Given the description of an element on the screen output the (x, y) to click on. 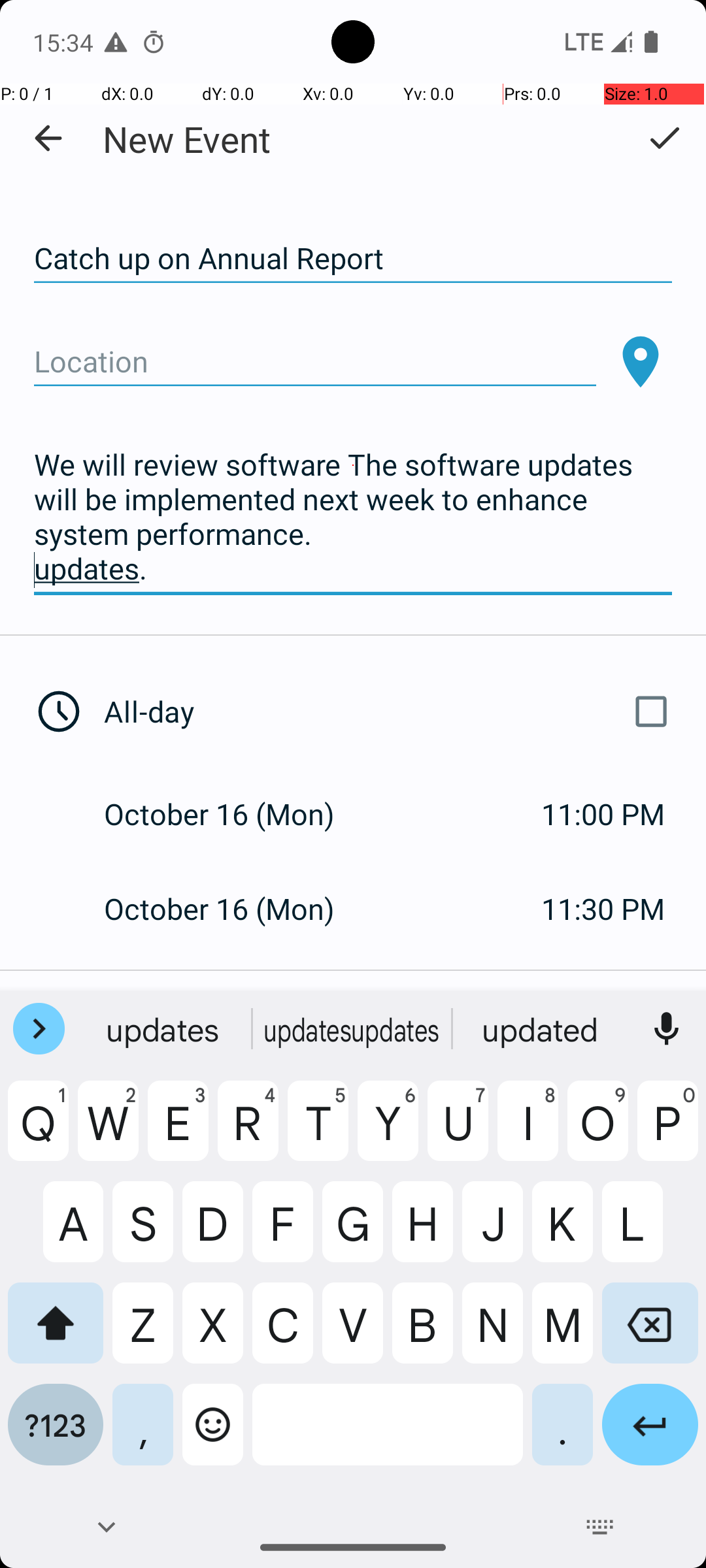
Catch up on Annual Report Element type: android.widget.EditText (352, 258)
We will review software The software updates will be implemented next week to enhance system performance.
updates. Element type: android.widget.EditText (352, 516)
October 16 (Mon) Element type: android.widget.TextView (232, 813)
11:00 PM Element type: android.widget.TextView (602, 813)
11:30 PM Element type: android.widget.TextView (602, 908)
updates Element type: android.widget.FrameLayout (163, 1028)
updatesupdates Element type: android.widget.FrameLayout (352, 1028)
updated Element type: android.widget.FrameLayout (541, 1028)
